Given the description of an element on the screen output the (x, y) to click on. 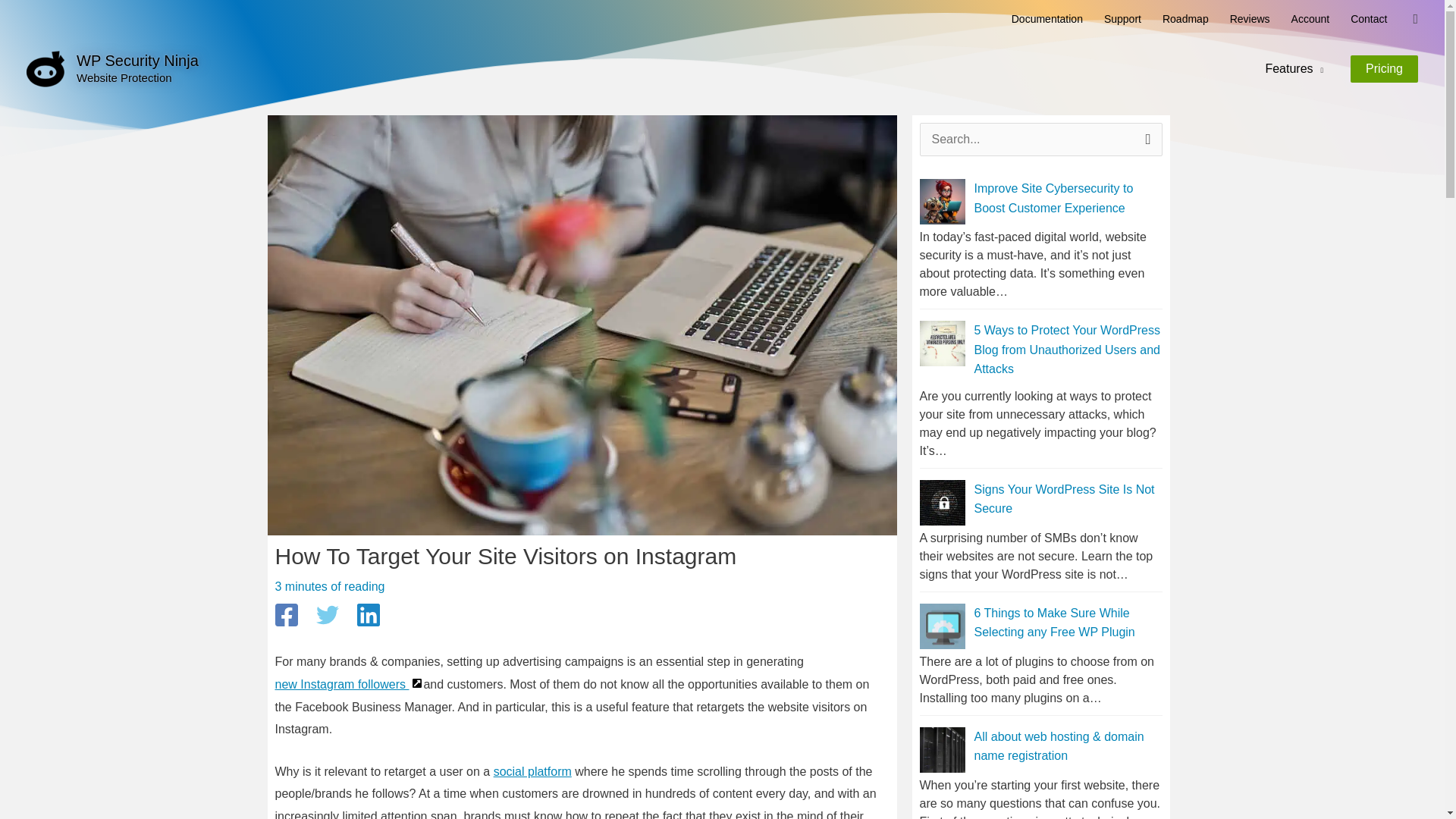
Contact (1368, 18)
Support (1122, 18)
Account (1310, 18)
Documentation (1047, 18)
Search (1144, 138)
WP Security Ninja (137, 60)
Features (1293, 68)
new Instagram followers  (349, 684)
Pricing (1384, 68)
Reviews (1250, 18)
Roadmap (1185, 18)
Search (1144, 138)
social platform (532, 771)
